Given the description of an element on the screen output the (x, y) to click on. 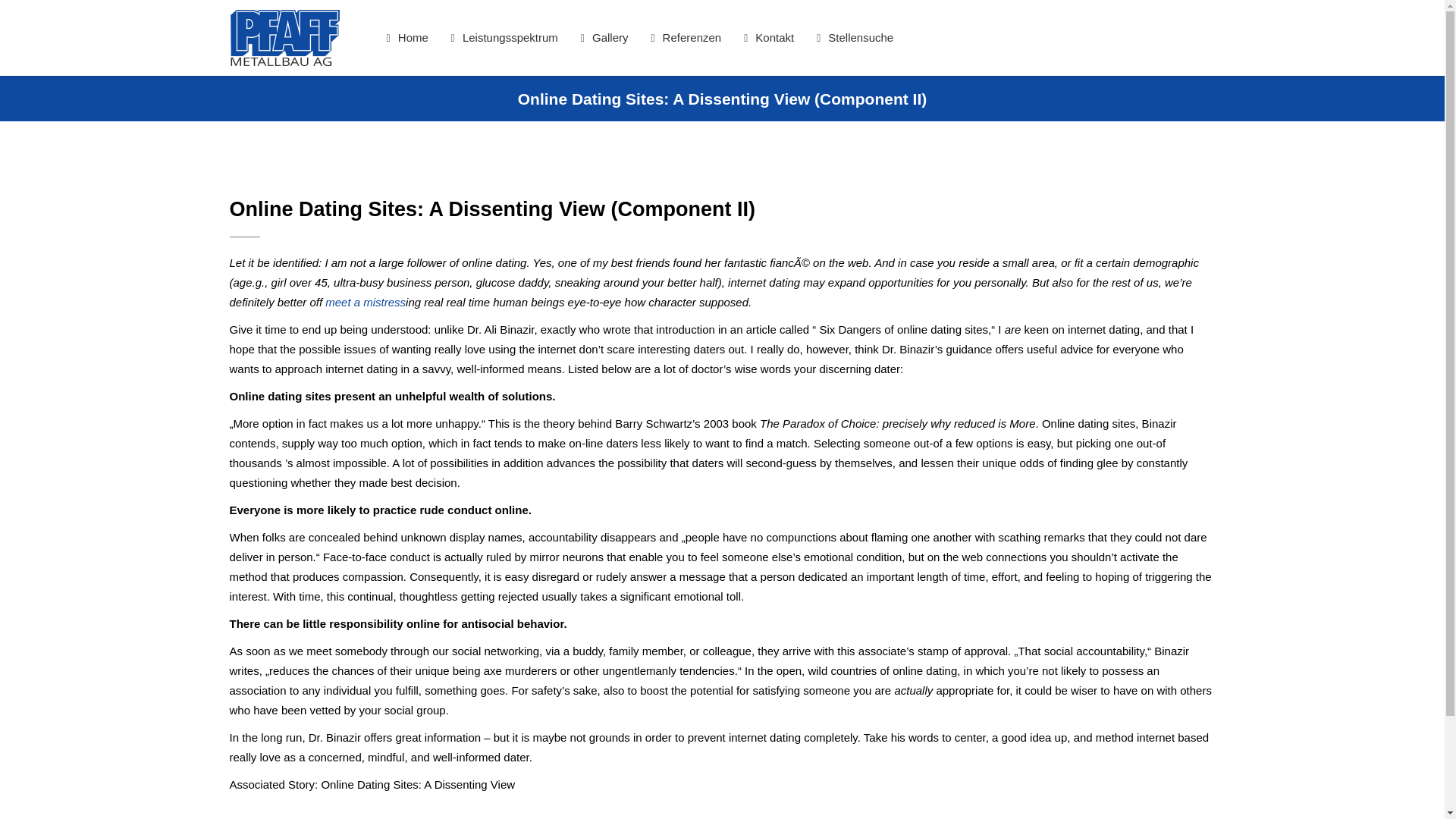
Kontakt (768, 38)
Referenzen (685, 38)
Stellensuche (854, 38)
Gallery (604, 38)
Leistungsspektrum (504, 38)
